Given the description of an element on the screen output the (x, y) to click on. 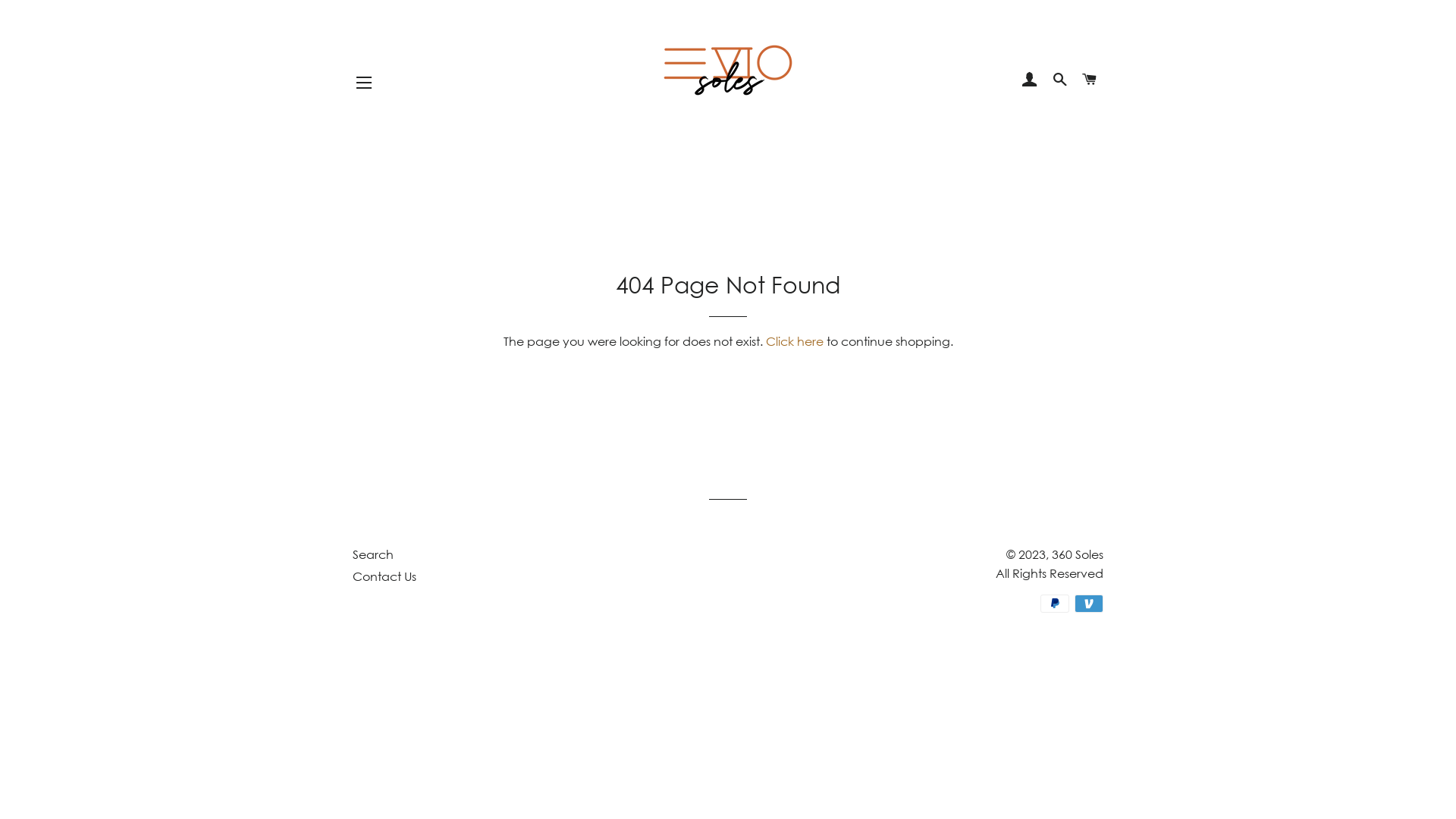
Contact Us Element type: text (384, 575)
Search Element type: text (372, 553)
Click here Element type: text (794, 340)
CART Element type: text (1089, 79)
360 Soles Element type: text (1077, 553)
SEARCH Element type: text (1059, 79)
All Rights Reserved Element type: text (1049, 572)
SITE NAVIGATION Element type: text (363, 82)
LOG IN Element type: text (1029, 79)
